Given the description of an element on the screen output the (x, y) to click on. 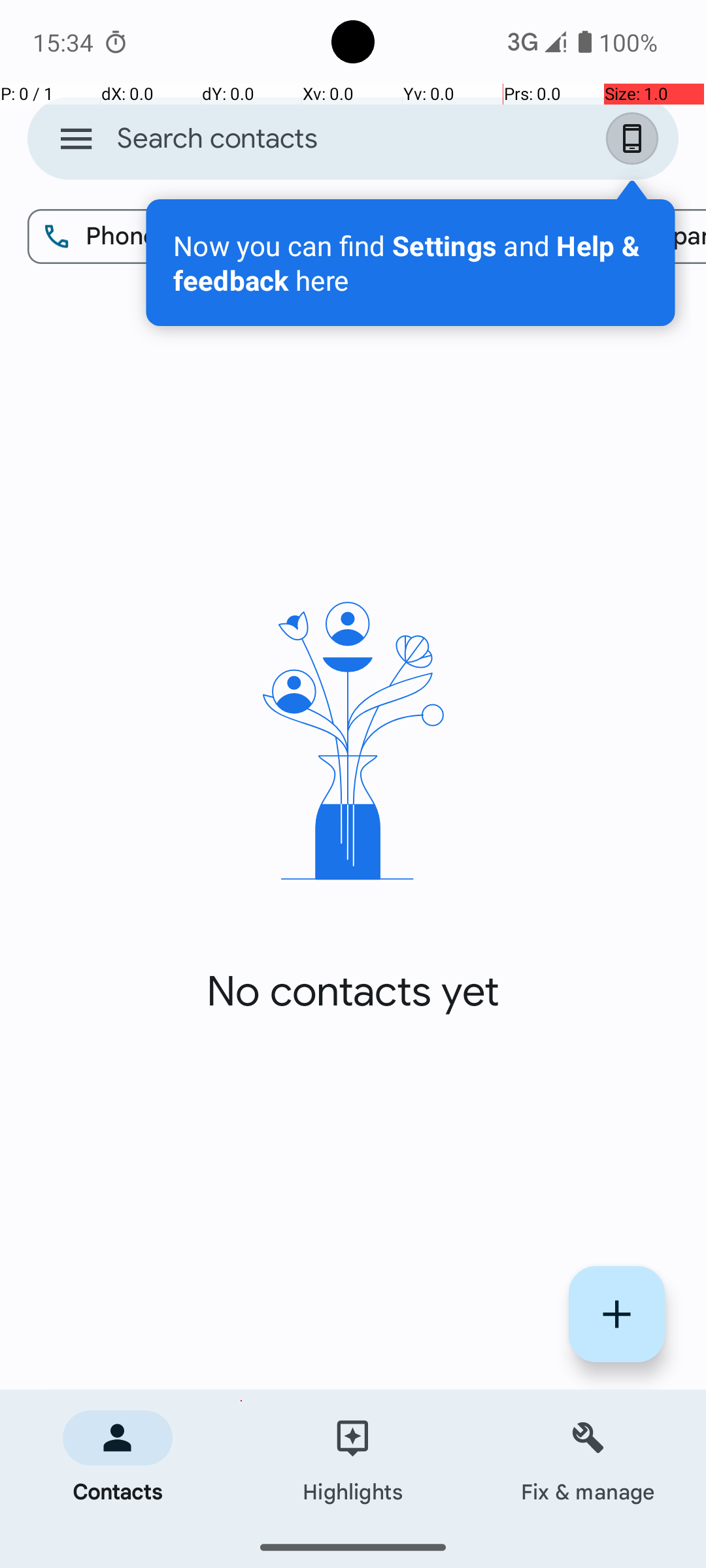
No contacts yet Element type: android.widget.TextView (353, 991)
Now you can find Settings and Help & feedback here
Open account and settings. Element type: android.view.ViewGroup (409, 262)
Now you can find Settings and Help & feedback here Element type: android.widget.TextView (410, 262)
